Given the description of an element on the screen output the (x, y) to click on. 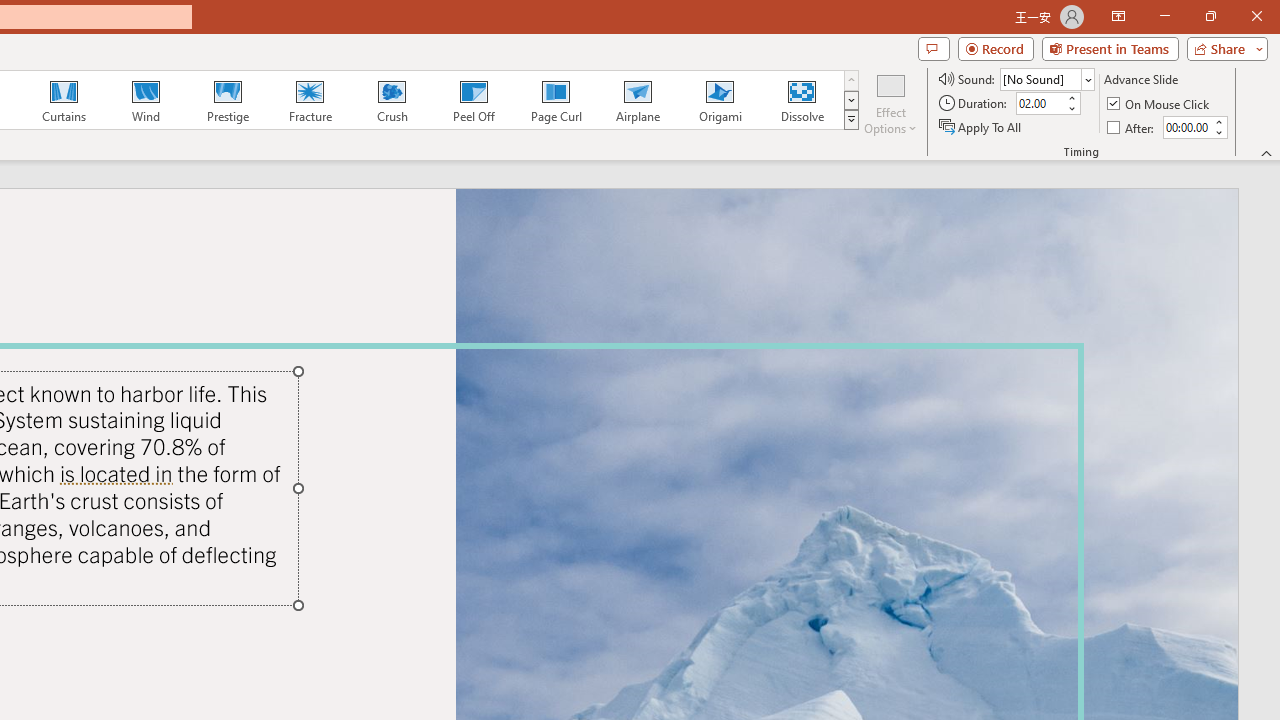
Apply To All (981, 126)
Airplane (637, 100)
Peel Off (473, 100)
Duration (1039, 103)
Wind (145, 100)
Sound (1046, 78)
Page Curl (555, 100)
